Given the description of an element on the screen output the (x, y) to click on. 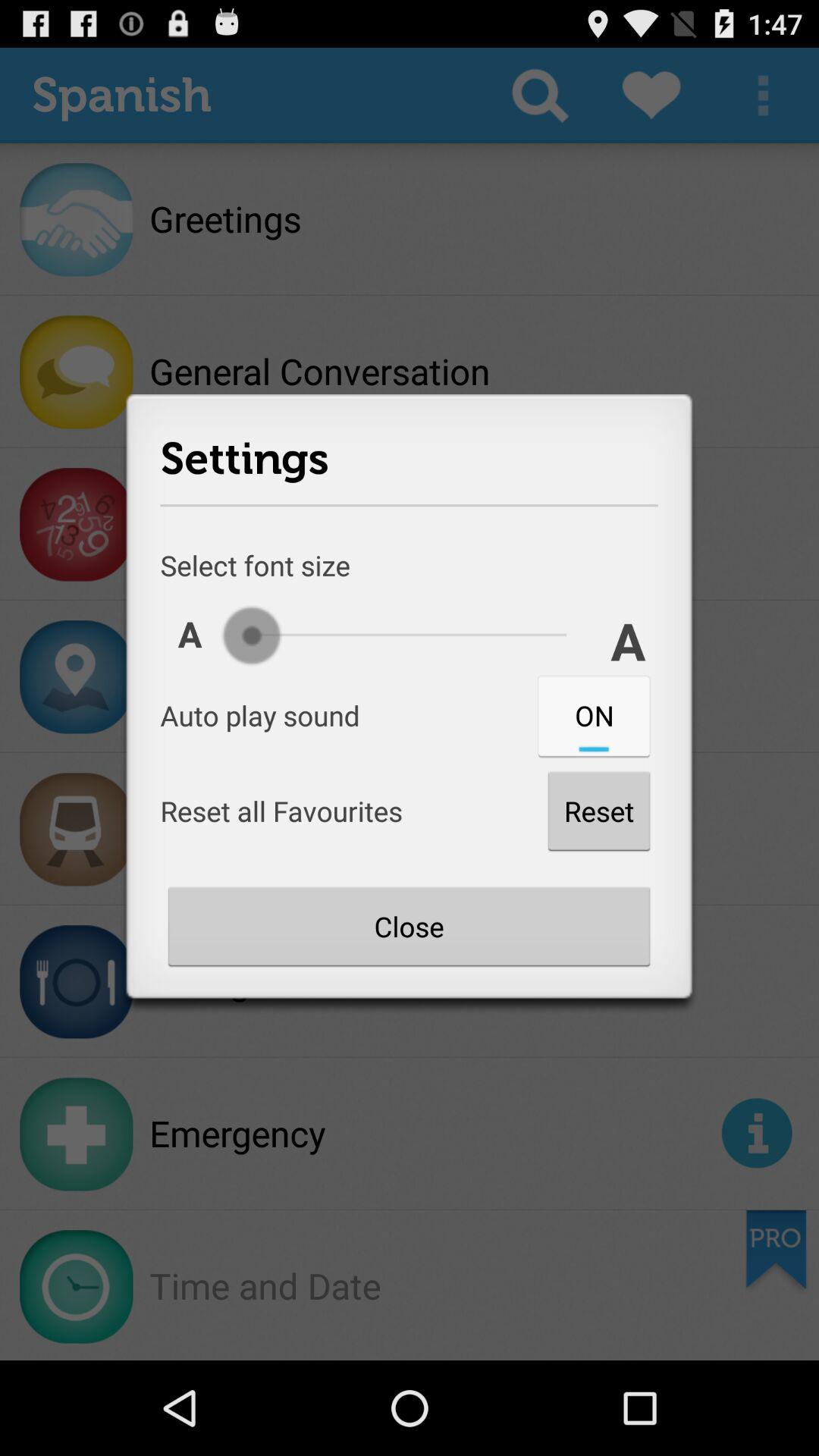
launch app to the right of auto play sound (594, 715)
